Given the description of an element on the screen output the (x, y) to click on. 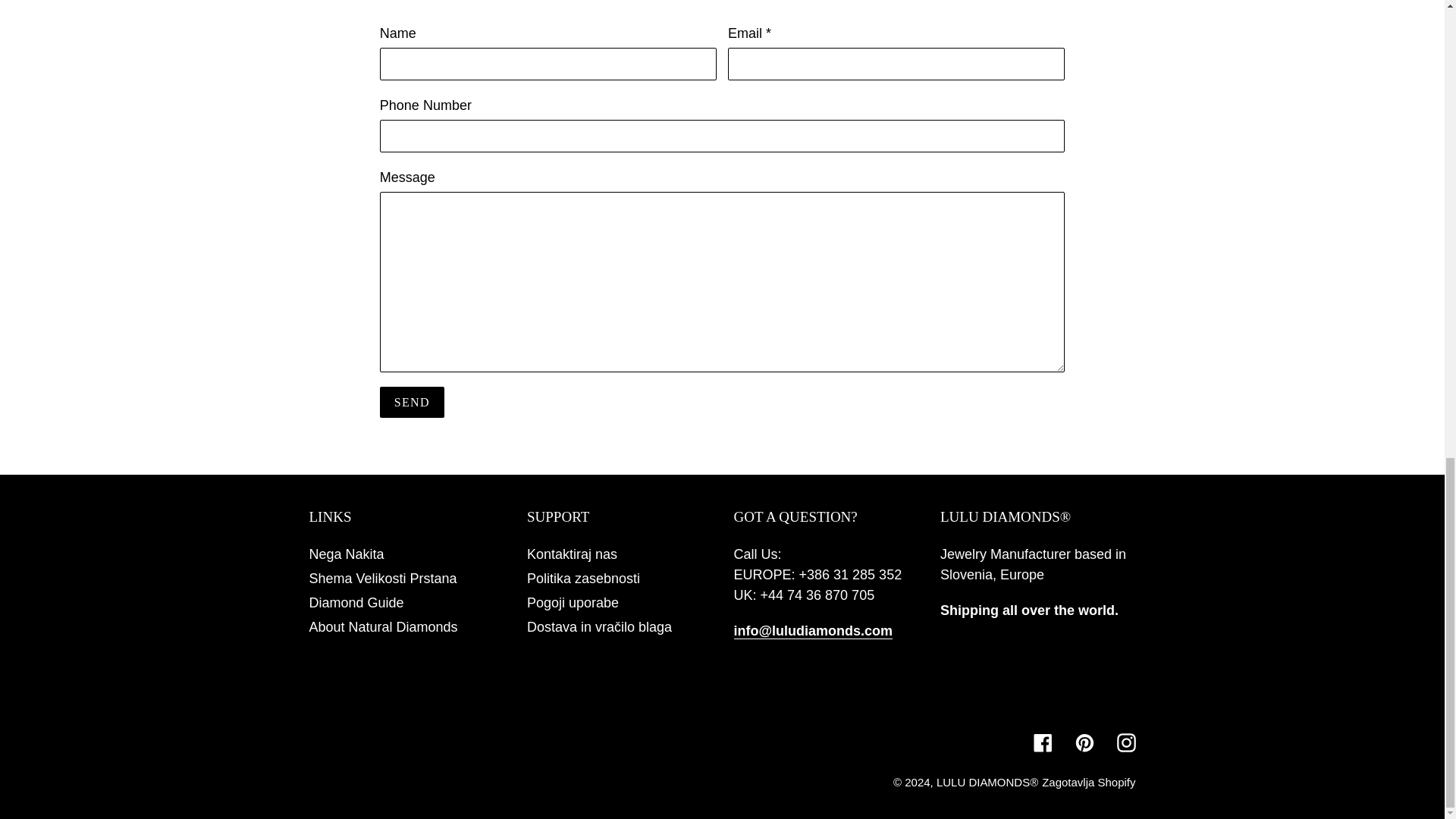
Send (412, 401)
Diamond Guide (356, 602)
Politika zasebnosti (583, 578)
Nega Nakita (346, 554)
Shema Velikosti Prstana (382, 578)
Send (412, 401)
About Natural Diamonds (383, 626)
Kontaktiraj nas (572, 554)
Facebook (1041, 742)
Pogoji uporabe (572, 602)
